Given the description of an element on the screen output the (x, y) to click on. 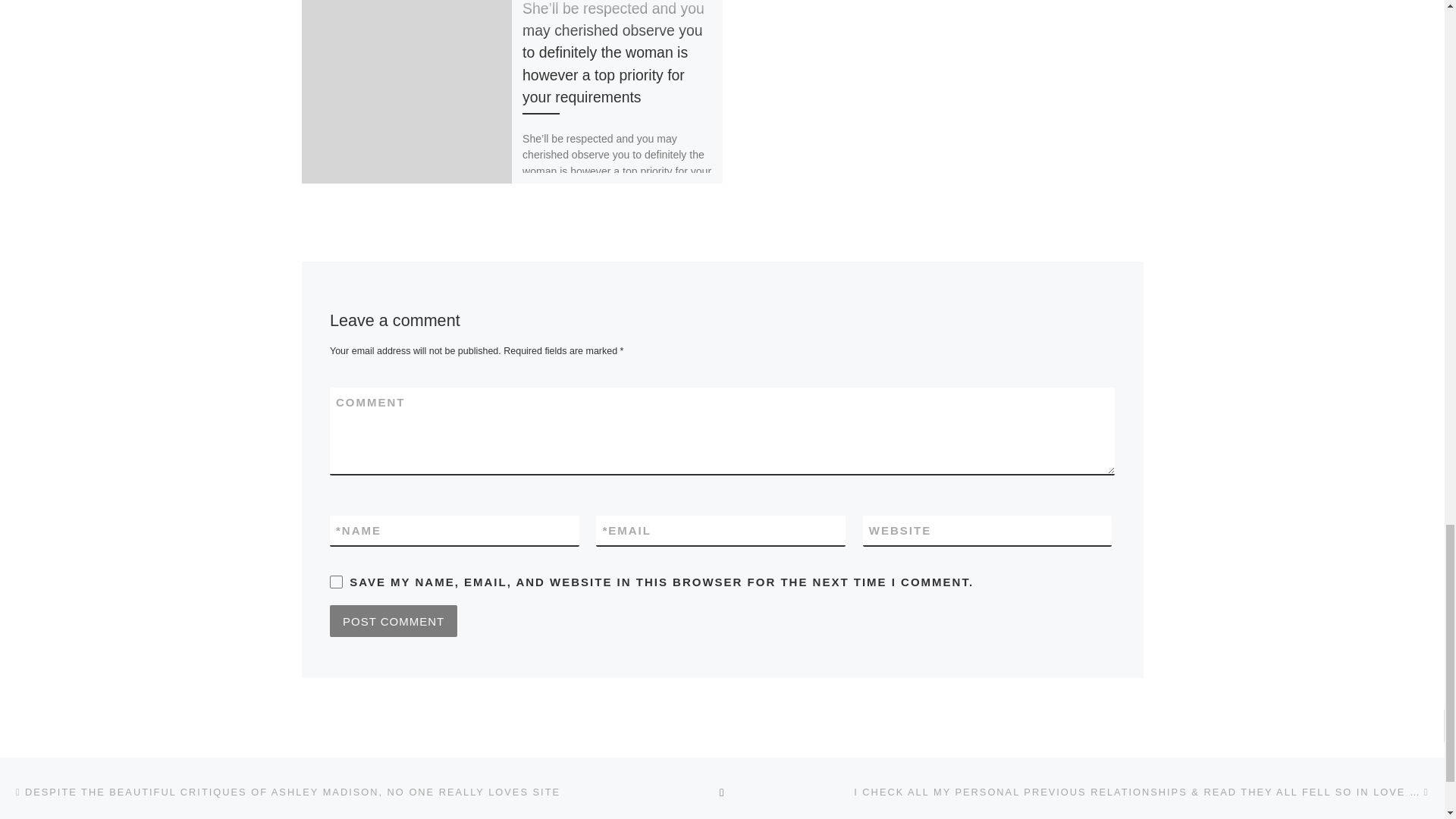
Post Comment (393, 621)
yes (336, 581)
Post Comment (393, 621)
